Given the description of an element on the screen output the (x, y) to click on. 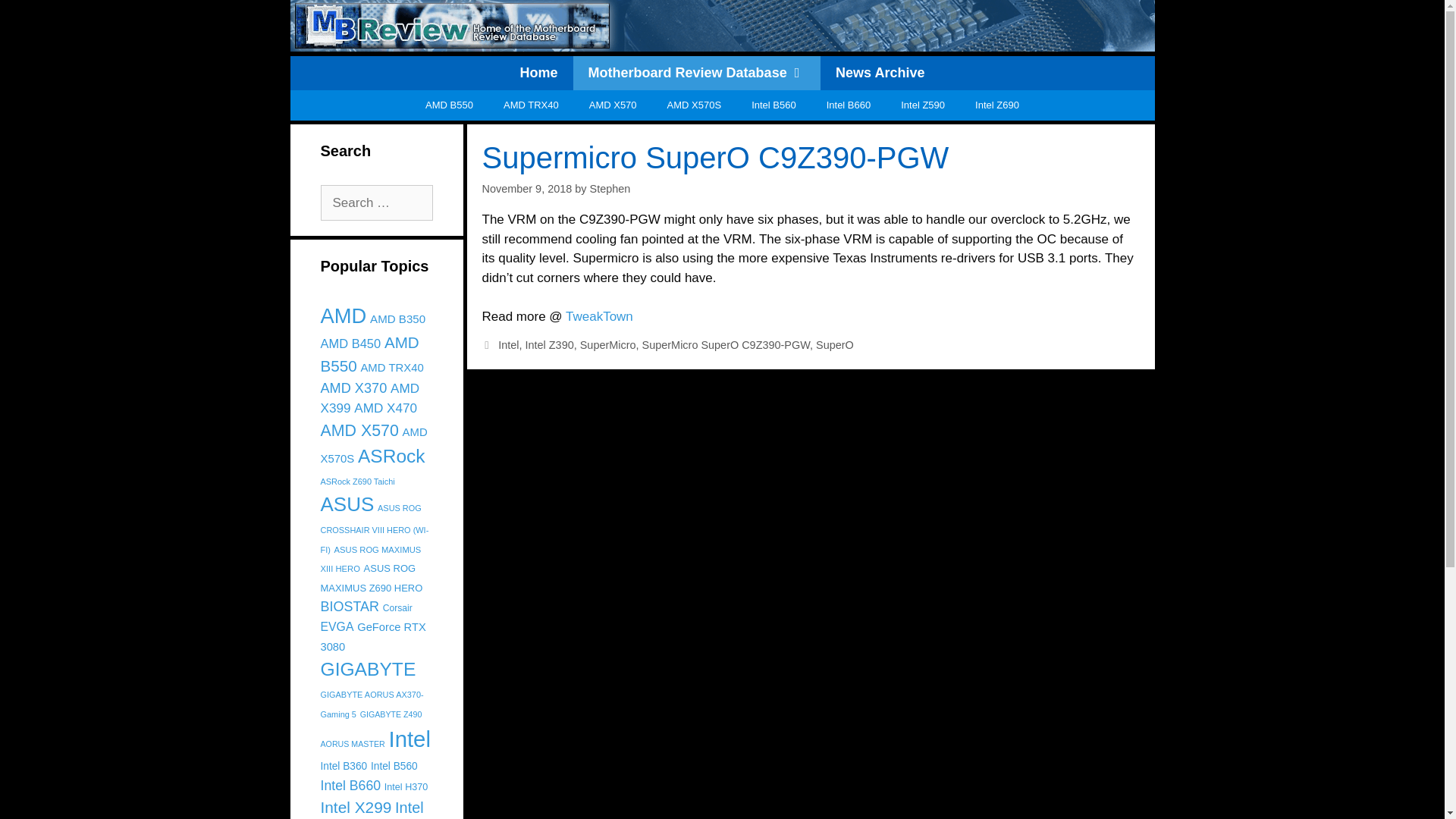
Home (539, 73)
News Archive (880, 73)
AMD B550 (448, 104)
View all posts by Stephen (609, 188)
AMD TRX40 (530, 104)
AMD X570 (612, 104)
Motherboard Review Database (697, 73)
Intel B560 (773, 104)
Search for: (376, 203)
AMD X570S (694, 104)
